Given the description of an element on the screen output the (x, y) to click on. 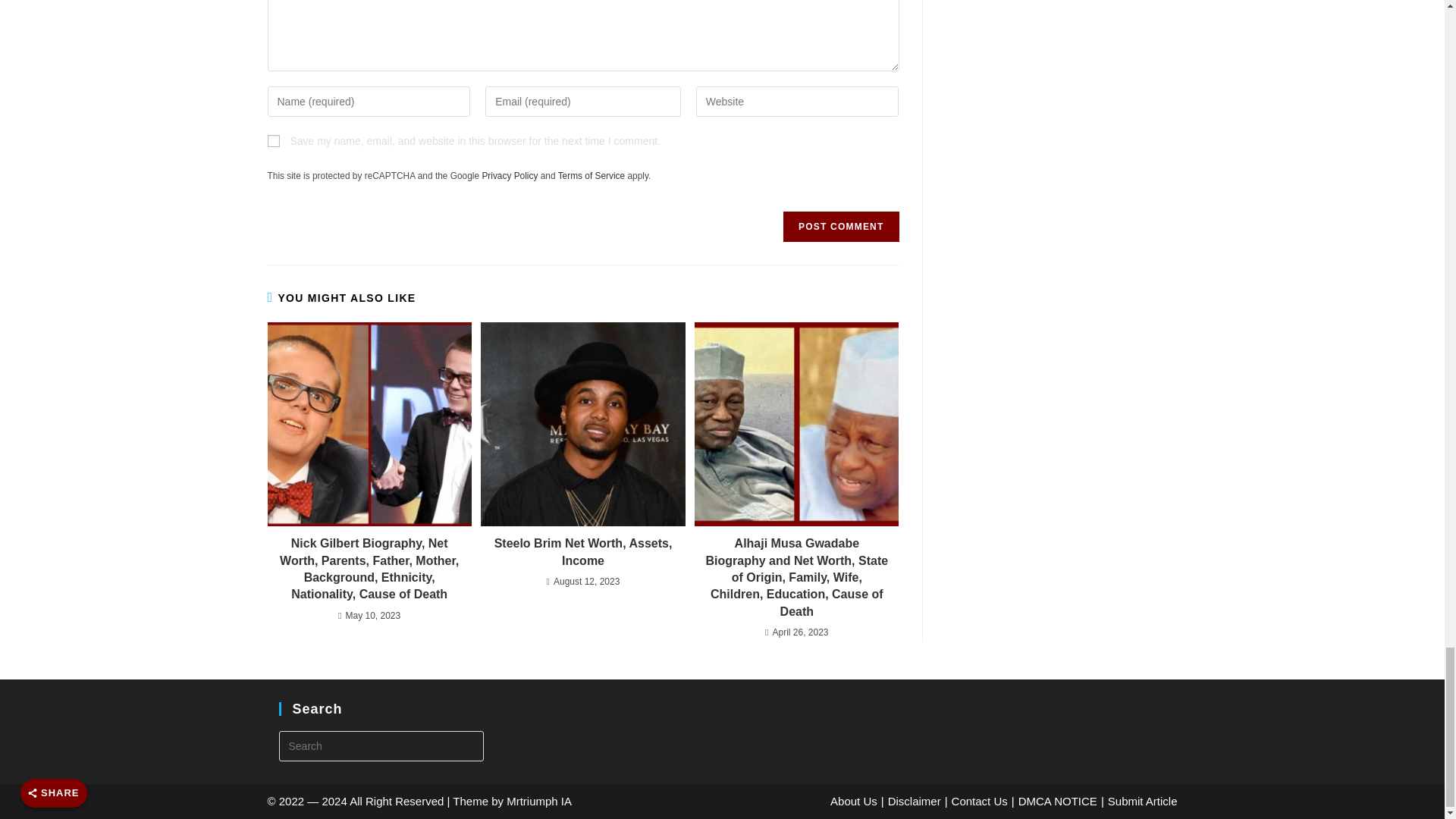
yes (272, 141)
Post Comment (840, 226)
